Given the description of an element on the screen output the (x, y) to click on. 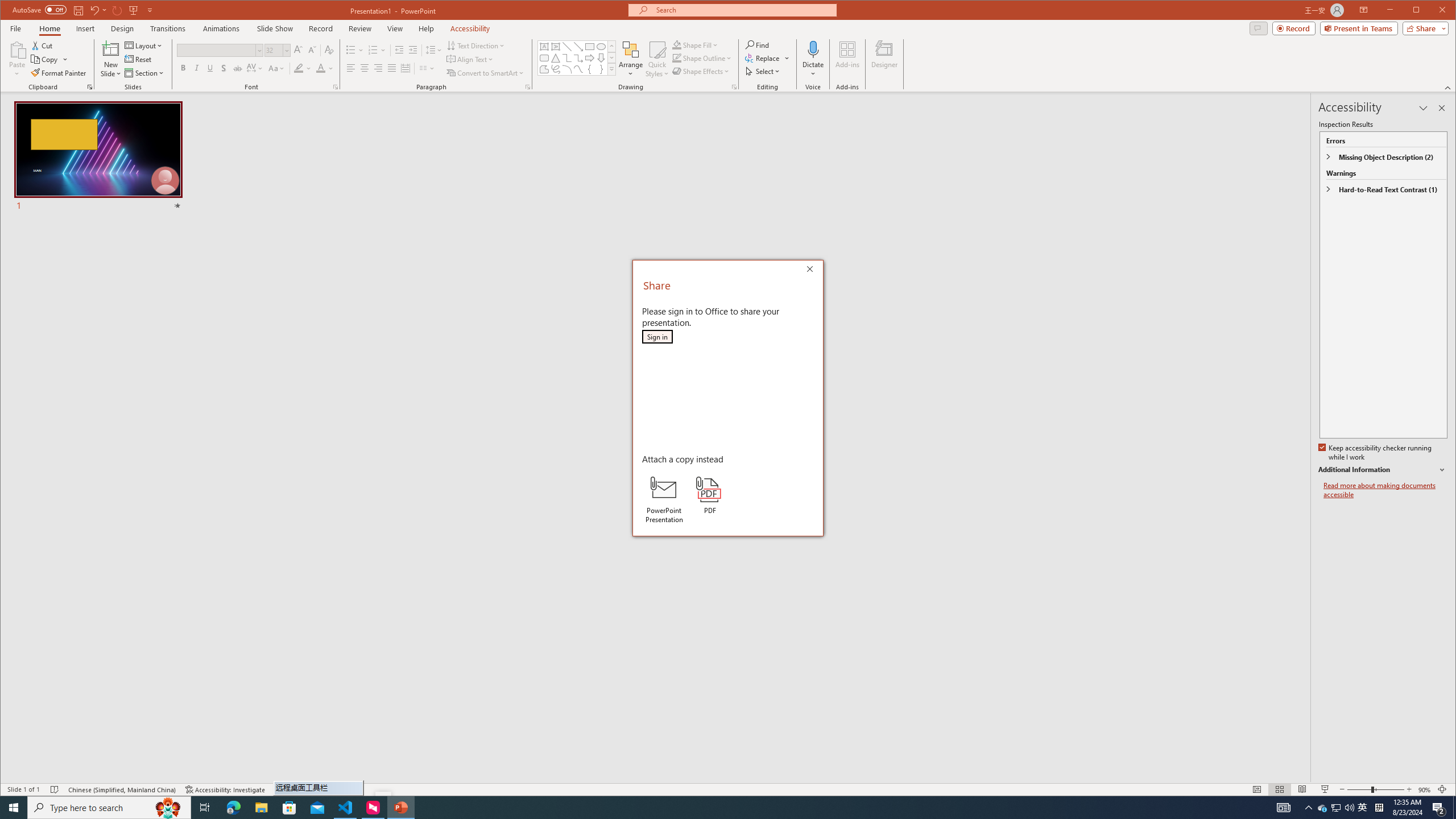
Format Object... (733, 86)
Distributed (405, 68)
Sign in (657, 336)
Shadow (224, 68)
Font Color Red (320, 68)
